Given the description of an element on the screen output the (x, y) to click on. 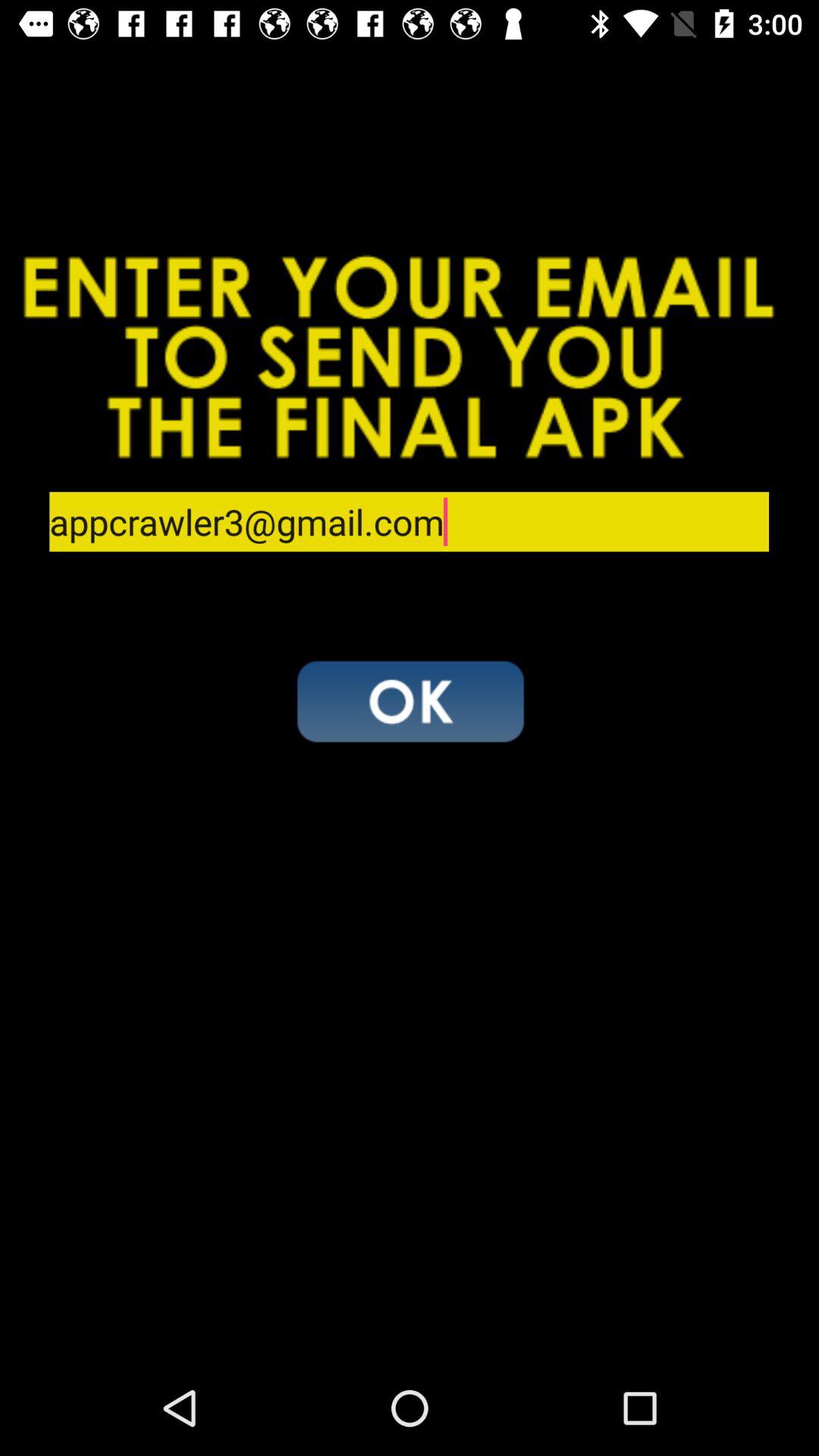
button confirming email entered (409, 700)
